Given the description of an element on the screen output the (x, y) to click on. 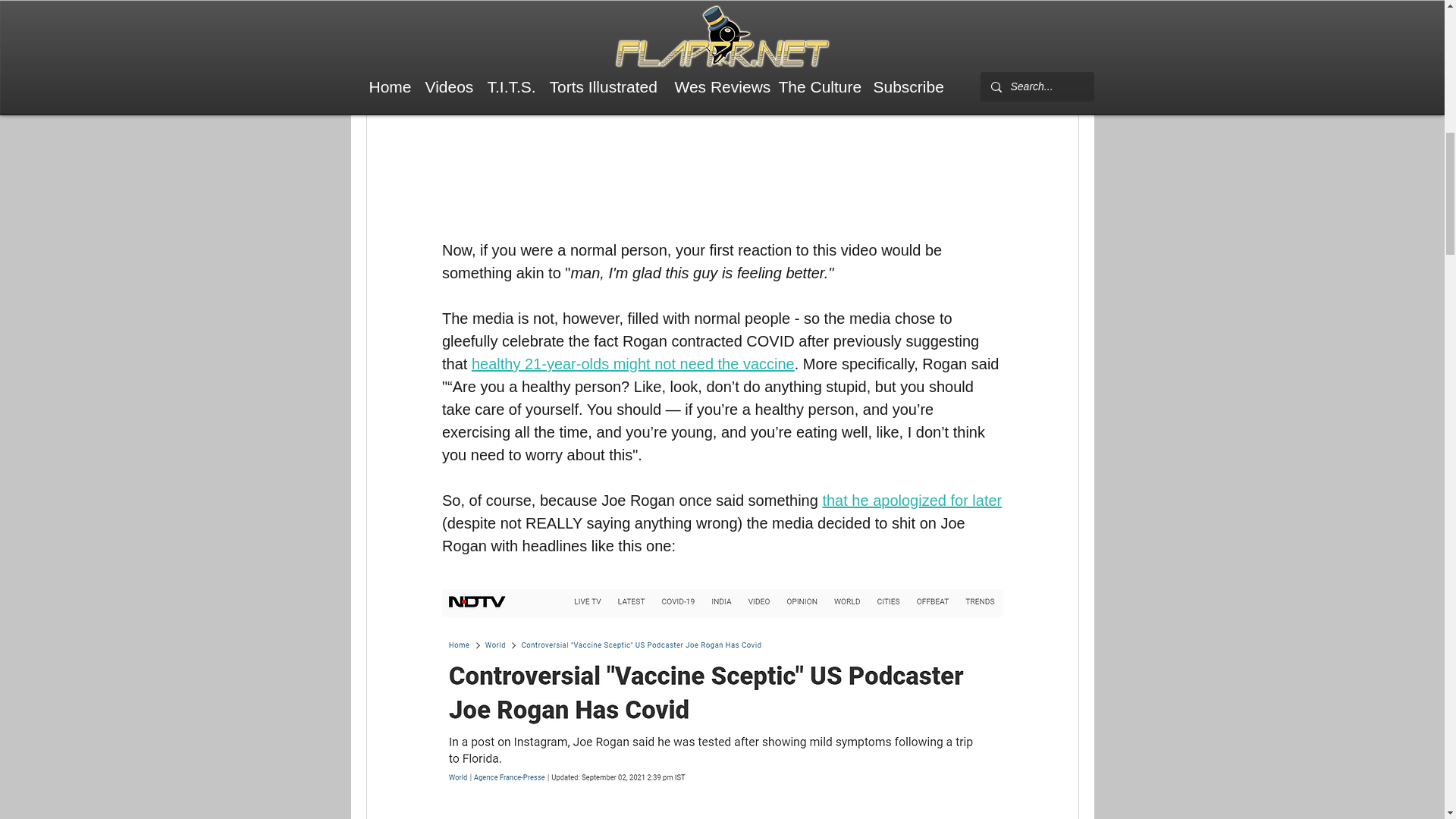
healthy 21-year-olds might not need the vaccine (631, 363)
that he apologized for later (911, 500)
